Given the description of an element on the screen output the (x, y) to click on. 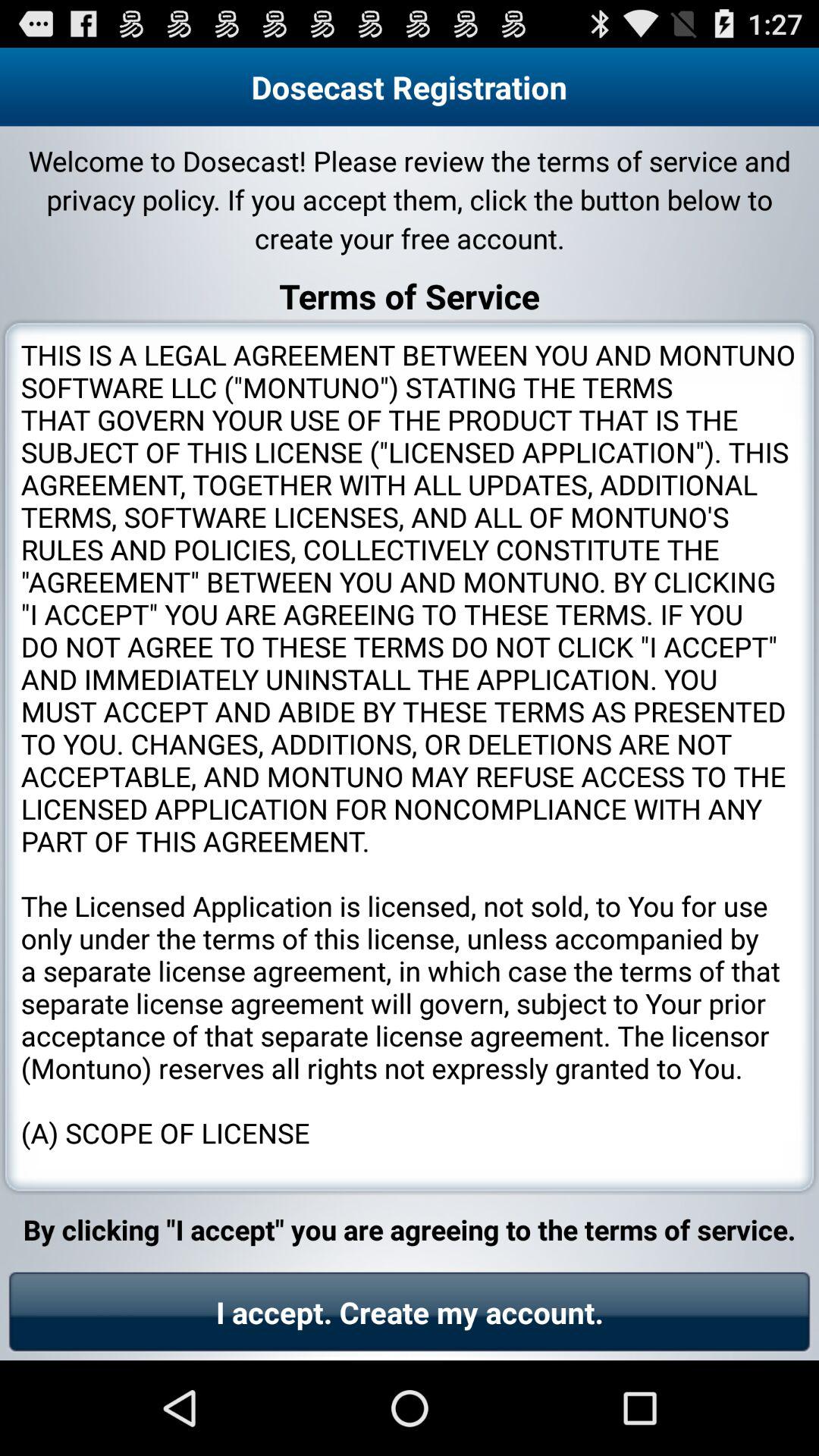
press this is a app (409, 756)
